Given the description of an element on the screen output the (x, y) to click on. 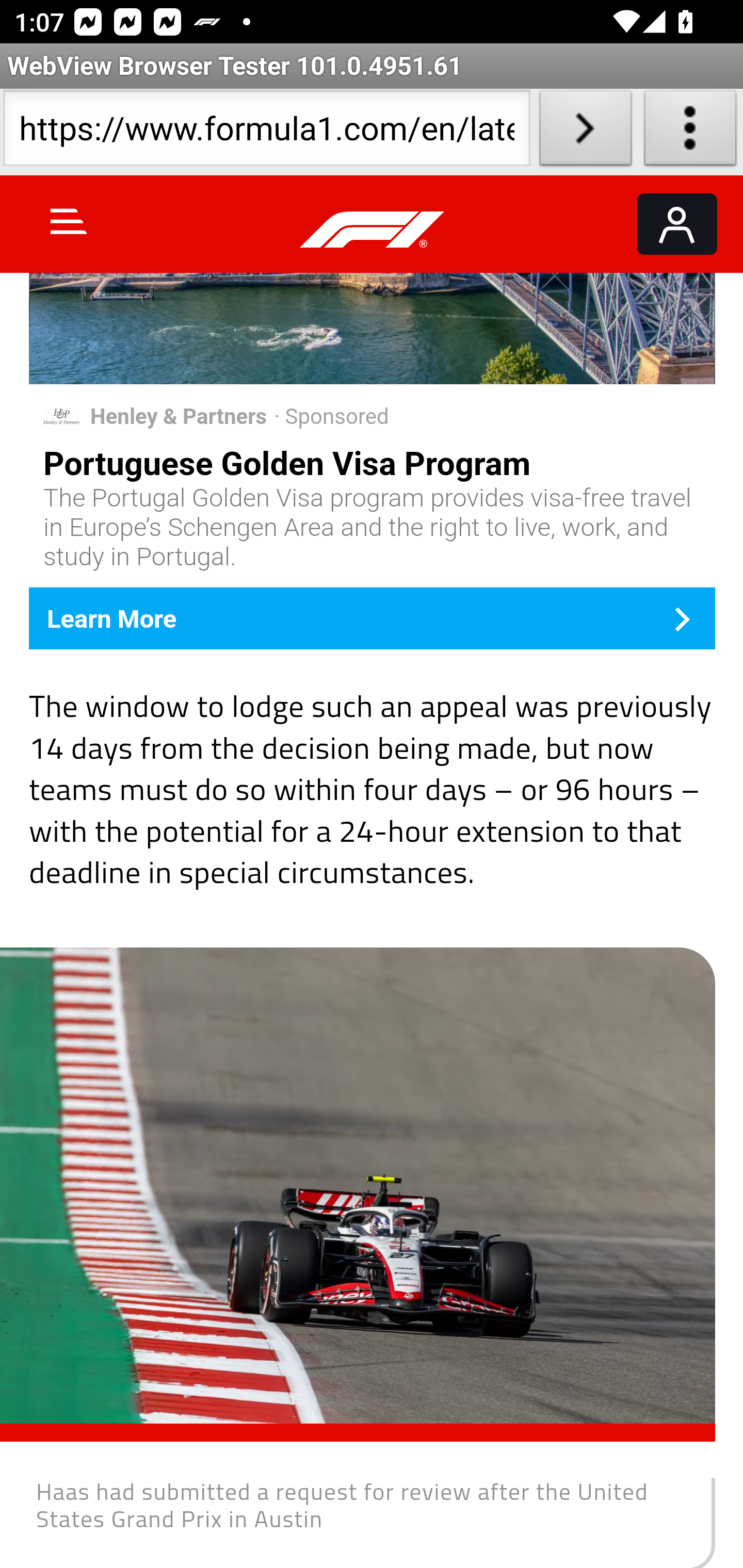
Load URL (585, 132)
About WebView (690, 132)
